Given the description of an element on the screen output the (x, y) to click on. 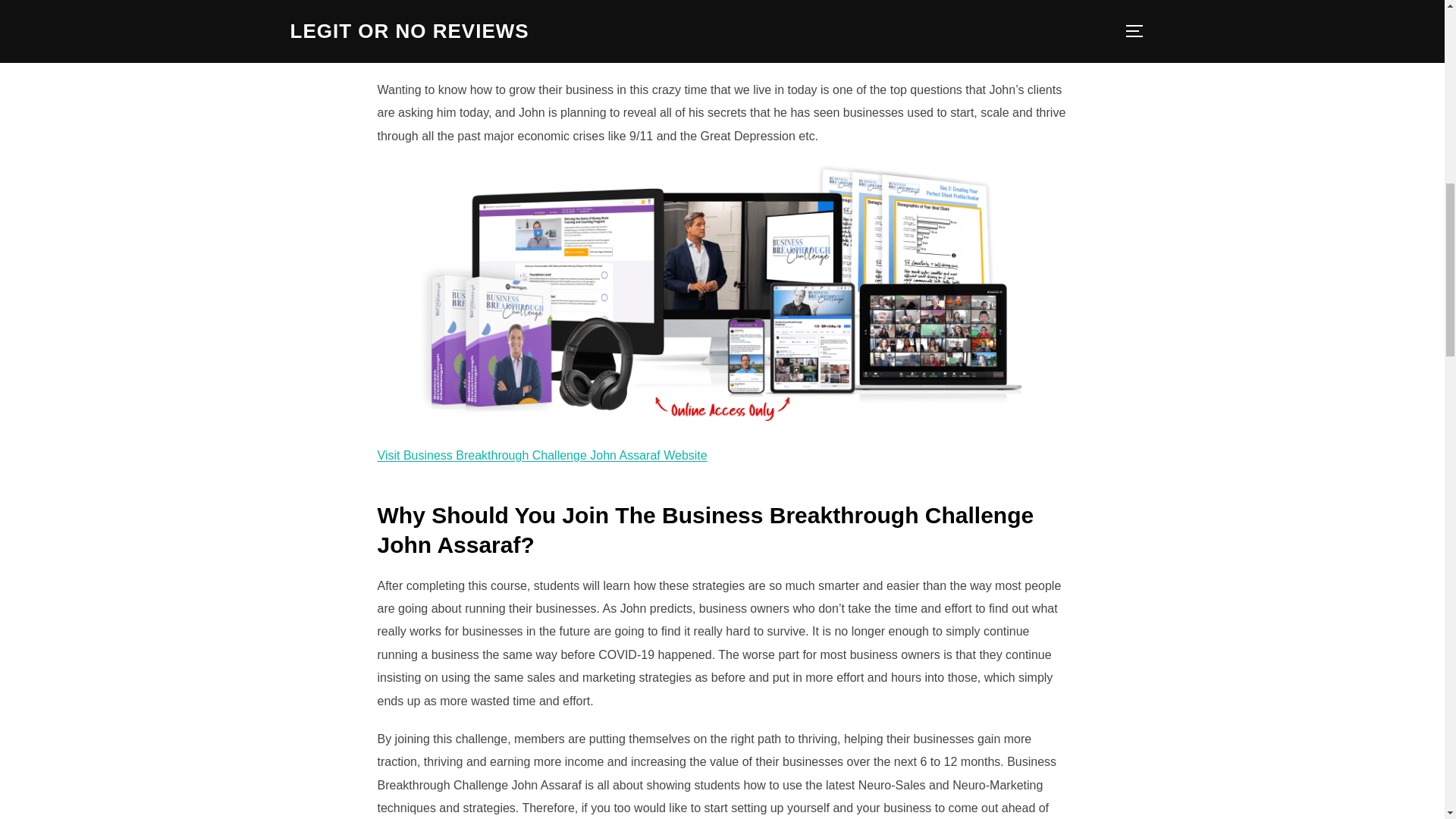
Visit Business Breakthrough Challenge John Assaraf Website (542, 454)
